Given the description of an element on the screen output the (x, y) to click on. 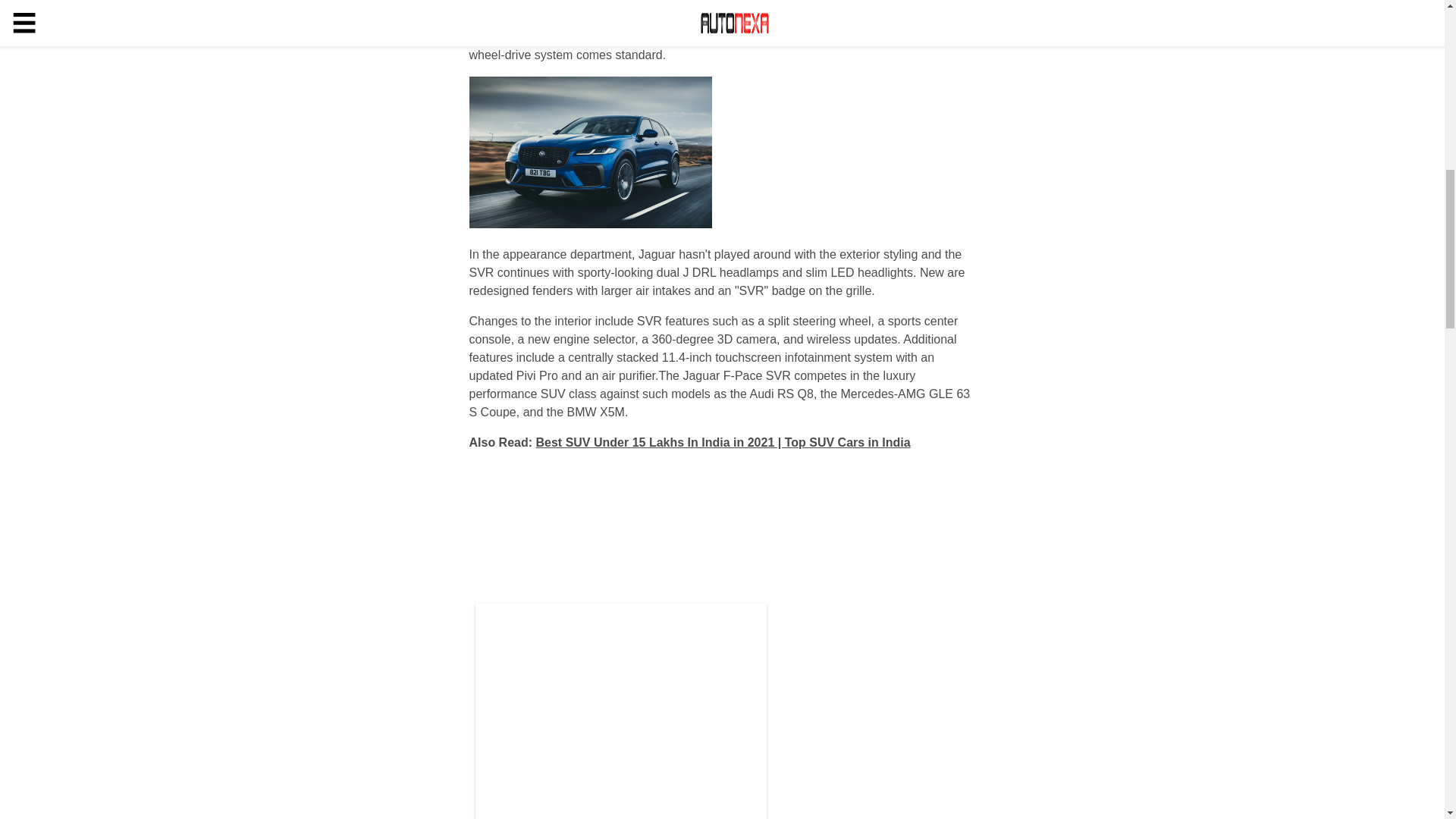
3rd party ad content (619, 717)
Jaguar (512, 3)
